Given the description of an element on the screen output the (x, y) to click on. 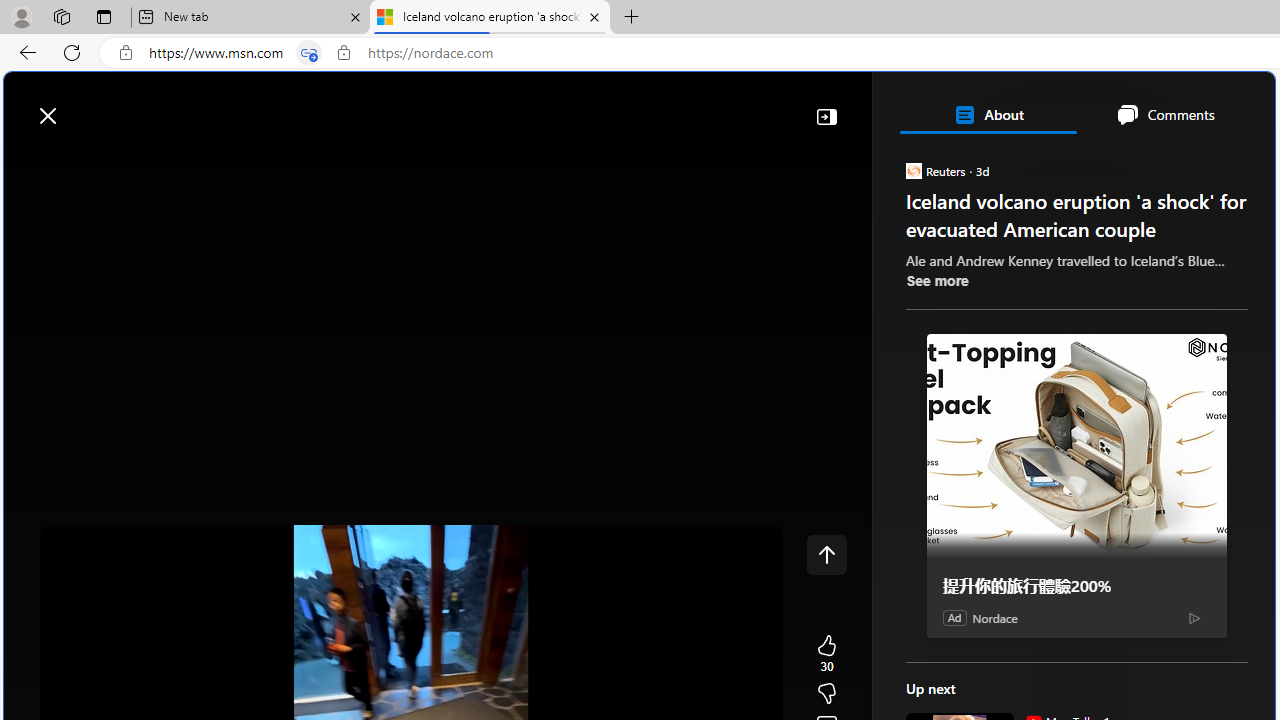
Skip to footer (82, 105)
Open navigation menu (29, 162)
Class: button-glyph (29, 162)
Enter your search term (644, 106)
Tabs in split screen (308, 53)
Comments (1165, 114)
Open settings (1230, 105)
